Given the description of an element on the screen output the (x, y) to click on. 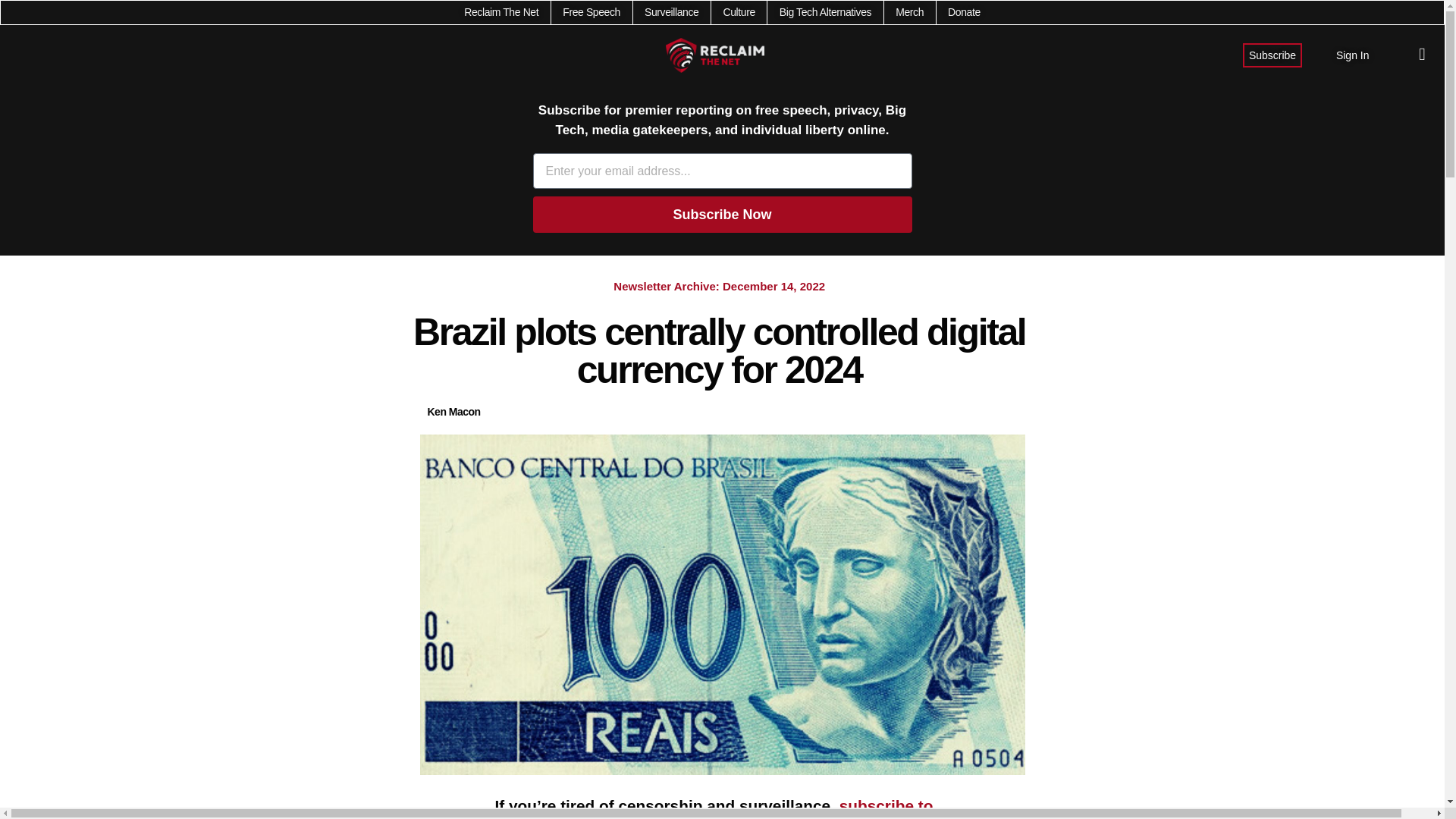
Donate (963, 12)
Sign In (1353, 55)
Reclaim The Net (501, 12)
Ken Macon (454, 412)
Culture (738, 12)
Subscribe Now (721, 214)
subscribe to Reclaim The Net. (714, 807)
Free Speech (591, 12)
Surveillance (671, 12)
Subscribe (1272, 55)
